Given the description of an element on the screen output the (x, y) to click on. 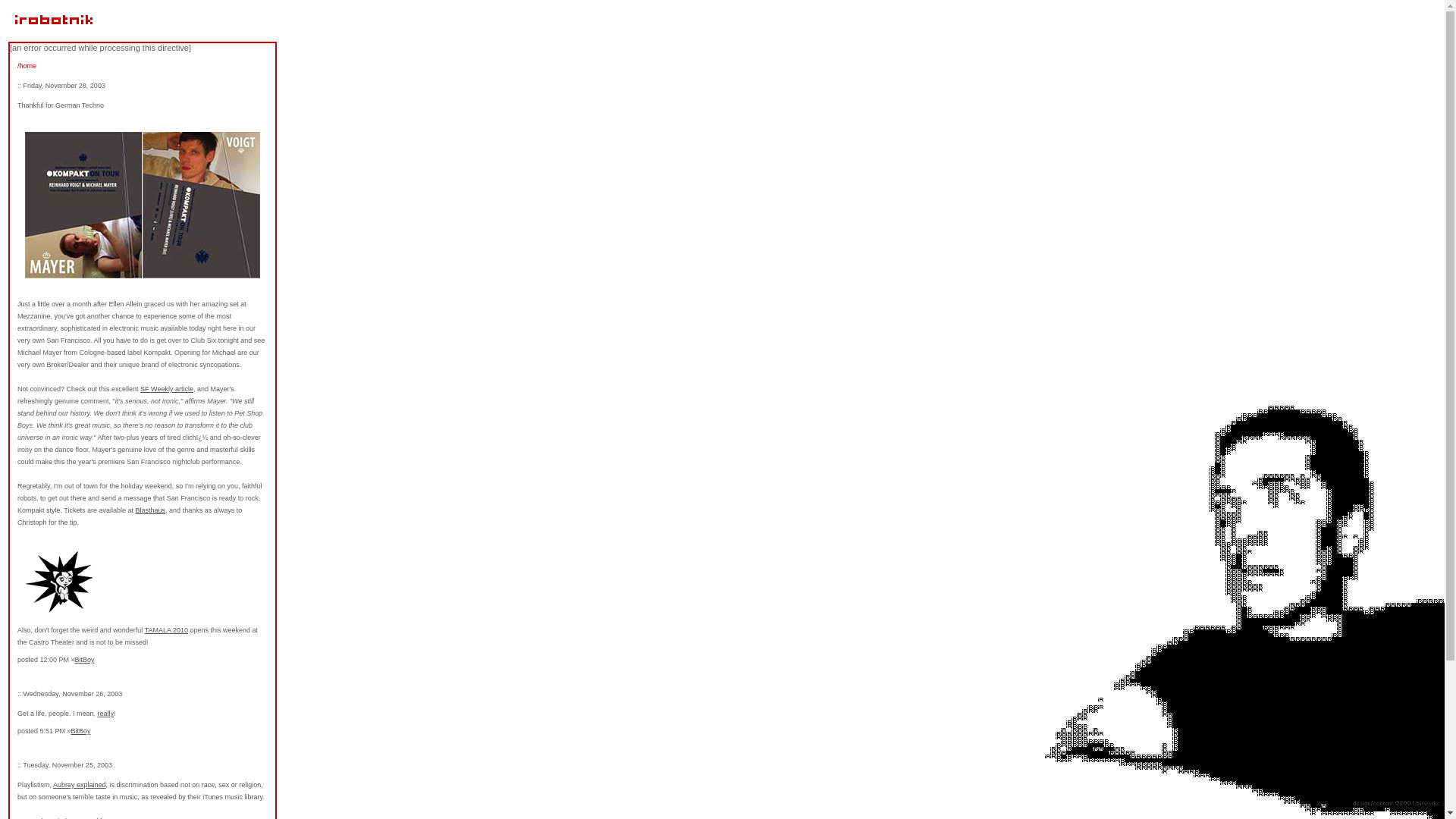
BitBoy (84, 659)
BitBoy (80, 730)
really (106, 713)
TAMALA 2010 (165, 629)
Aubrey explained (79, 784)
SF Weekly article (166, 388)
Blasthaus (150, 510)
